Given the description of an element on the screen output the (x, y) to click on. 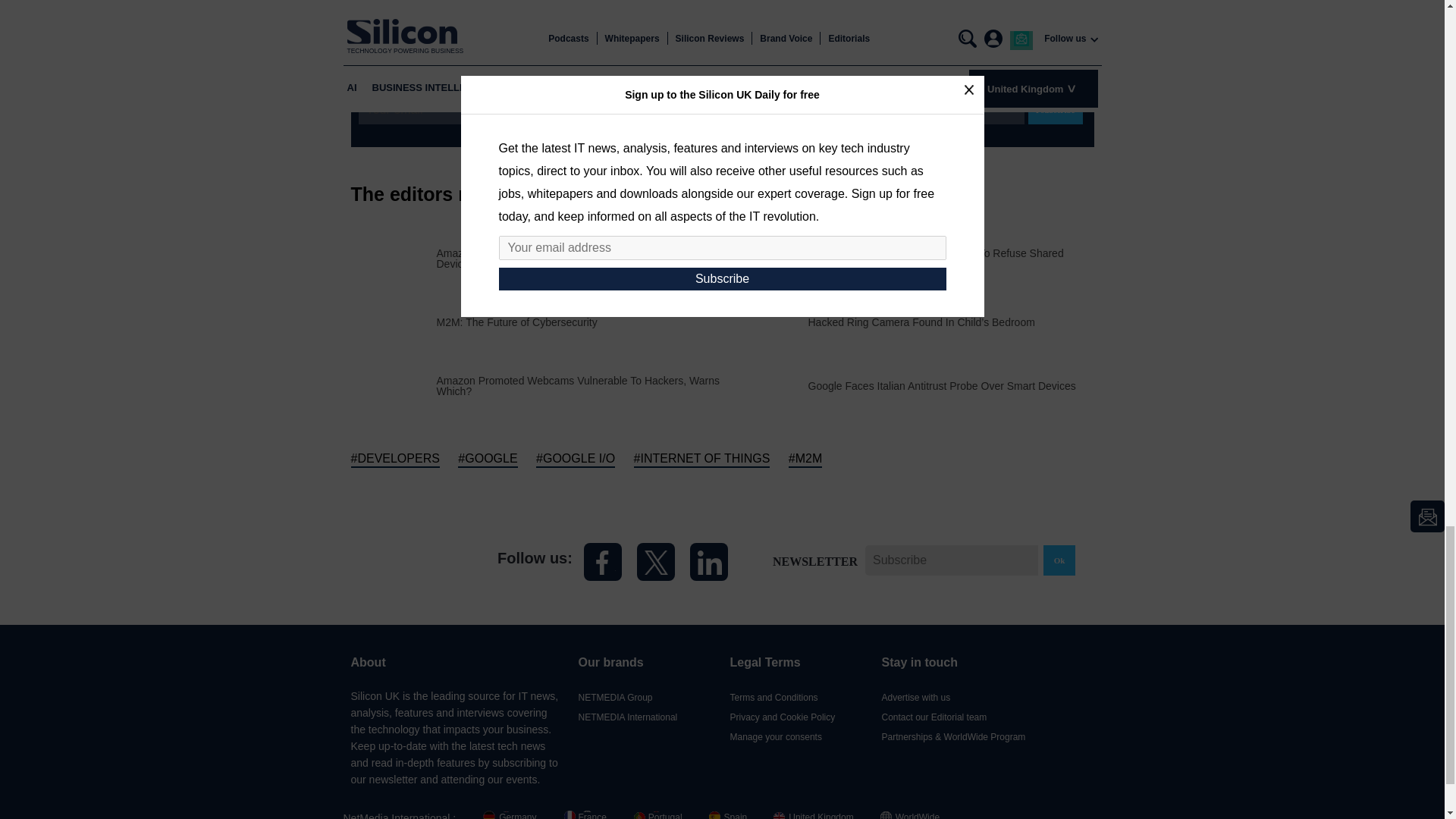
M2M: The Future of Cybersecurity (516, 321)
Amazon Opens Sidewalk Mesh Network To Third-Party Devices (579, 257)
Google Faces Italian Antitrust Probe Over Smart Devices (941, 385)
Amazon Promoted Webcams Vulnerable To Hackers, Warns Which? (579, 384)
